Given the description of an element on the screen output the (x, y) to click on. 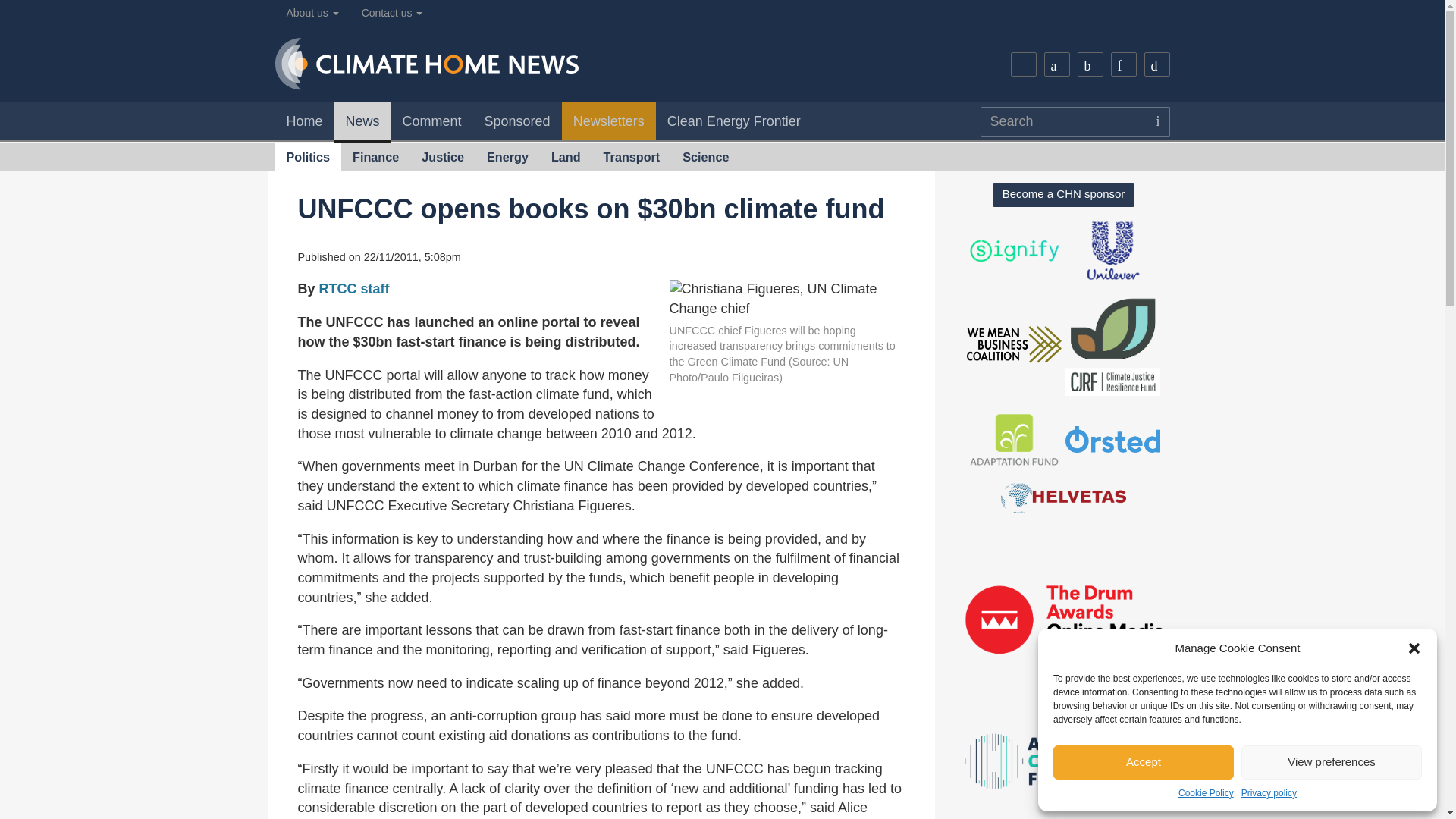
Privacy policy (1269, 793)
News (362, 122)
Comment (432, 121)
Sponsored (517, 121)
View preferences (1331, 762)
Home (304, 121)
Cookie Policy (1205, 793)
Accept (1142, 762)
Contact us (391, 13)
Framework Convention on Climate Change (786, 299)
About us (312, 13)
